Given the description of an element on the screen output the (x, y) to click on. 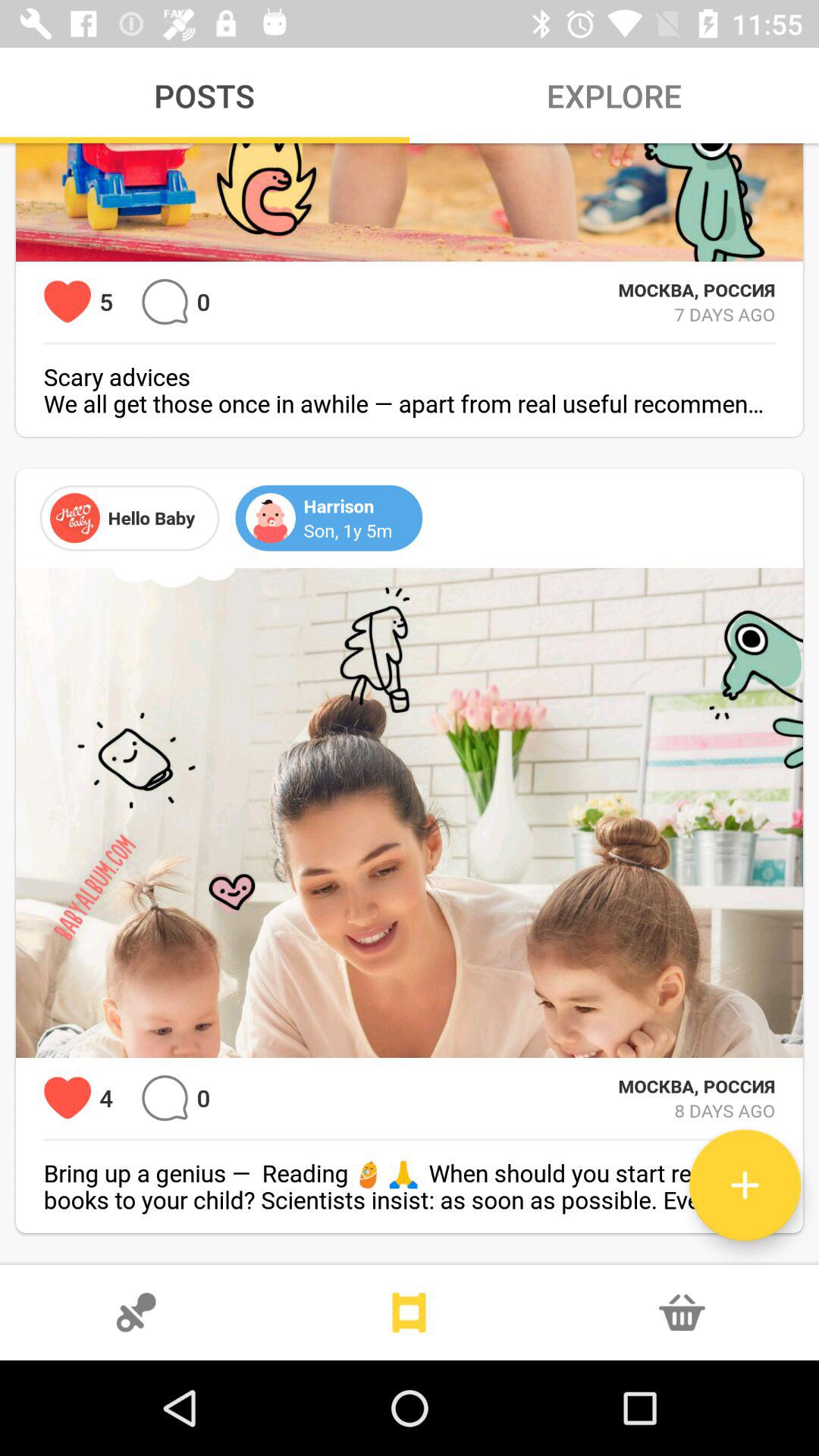
select the comment icon in the second image (164, 1098)
click the hello baby icon (74, 518)
